Given the description of an element on the screen output the (x, y) to click on. 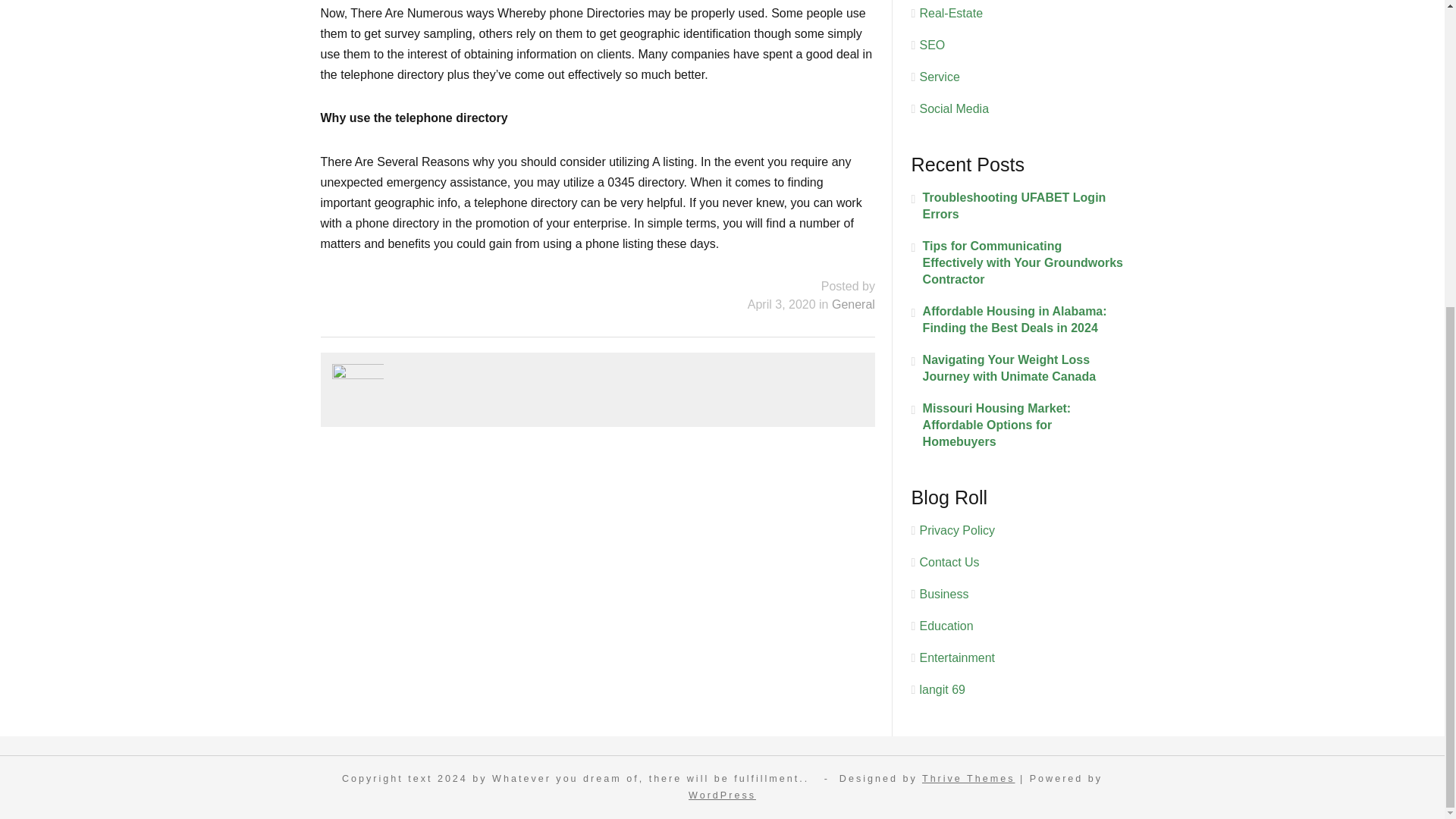
Contact Us (948, 562)
Missouri Housing Market: Affordable Options for Homebuyers (1017, 425)
Entertainment (956, 657)
langit 69 (941, 689)
Social Media (953, 108)
Troubleshooting UFABET Login Errors (1017, 205)
Navigating Your Weight Loss Journey with Unimate Canada (1017, 368)
SEO (931, 44)
